Given the description of an element on the screen output the (x, y) to click on. 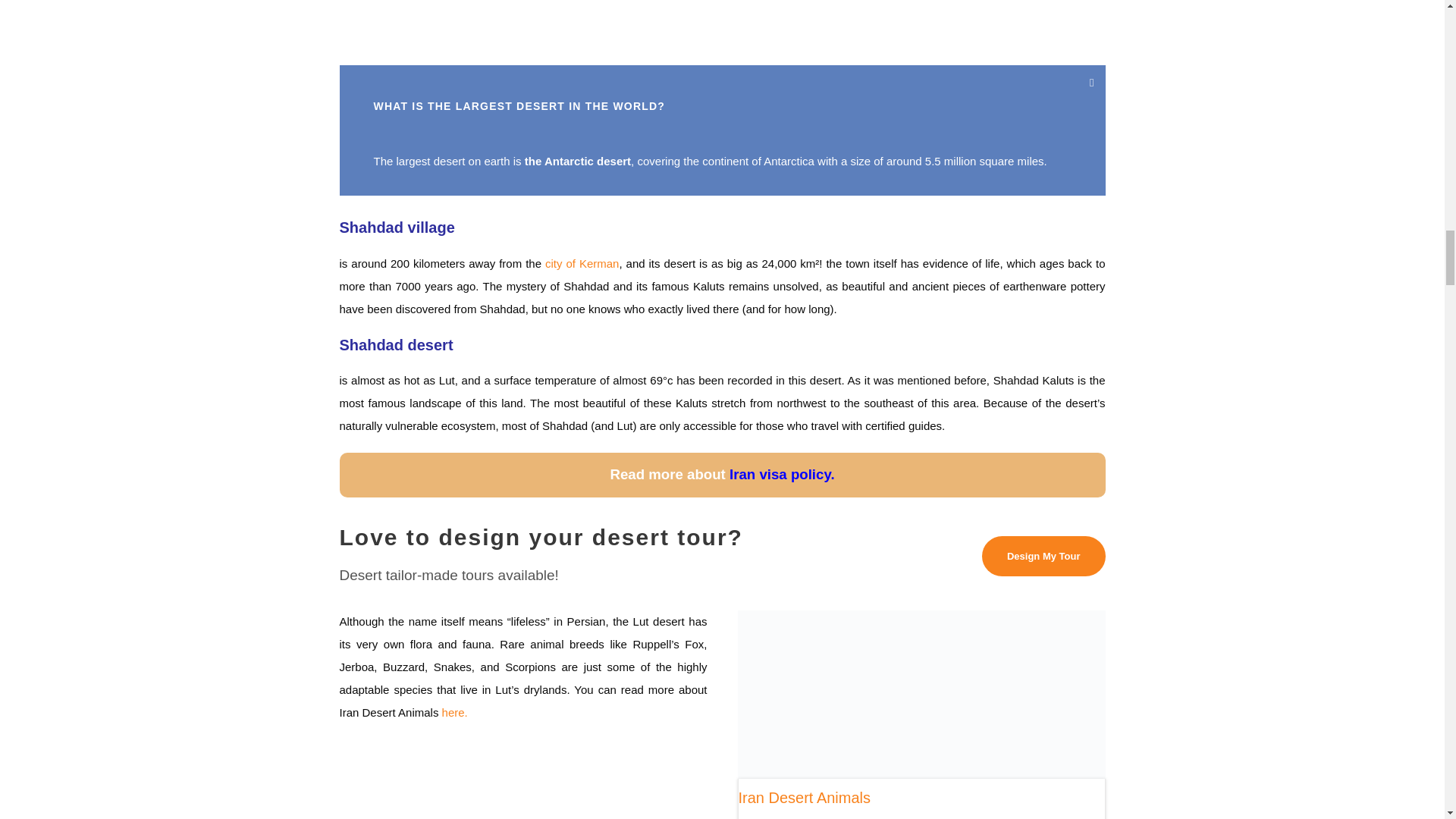
beautiful Chinkara gazelle is an Iran deser animal (920, 694)
